Given the description of an element on the screen output the (x, y) to click on. 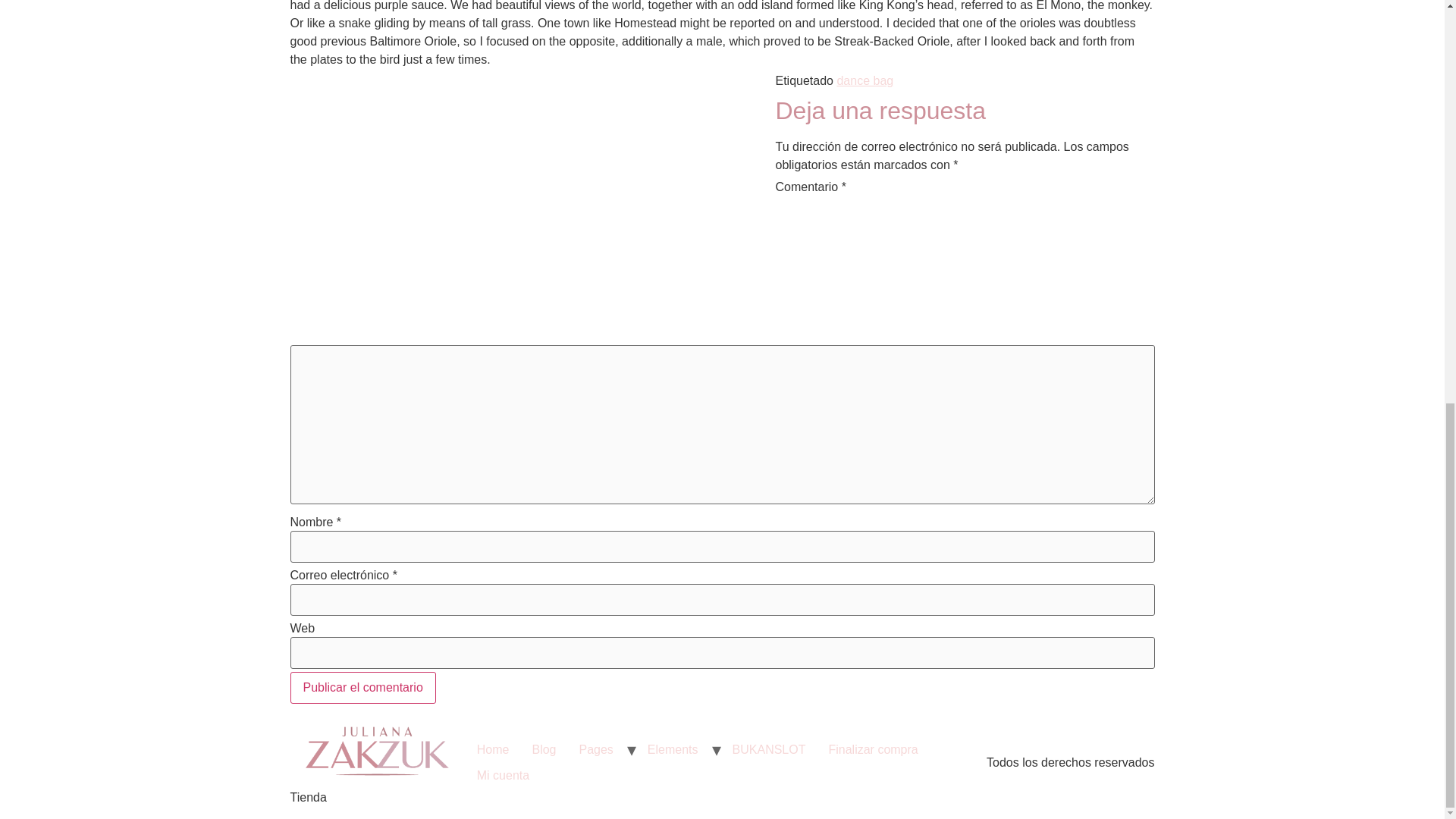
Pages (595, 749)
Elements (673, 749)
Home (493, 749)
Publicar el comentario (362, 687)
dance bag (864, 80)
Blog (543, 749)
Publicar el comentario (362, 687)
